Given the description of an element on the screen output the (x, y) to click on. 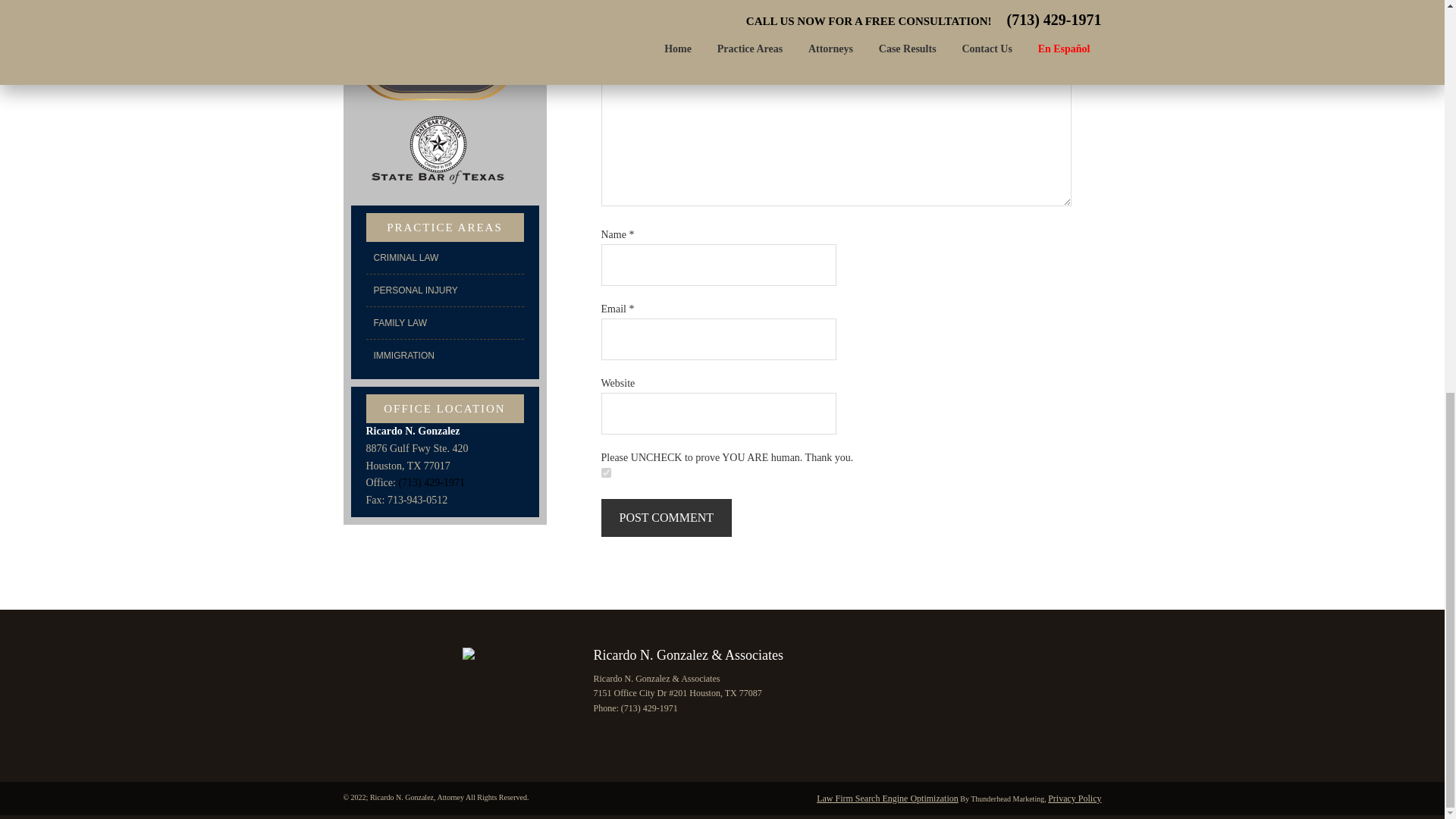
CRIMINAL LAW (443, 257)
PERSONAL INJURY (443, 290)
Post Comment (665, 517)
Post Comment (665, 517)
on (604, 472)
